Given the description of an element on the screen output the (x, y) to click on. 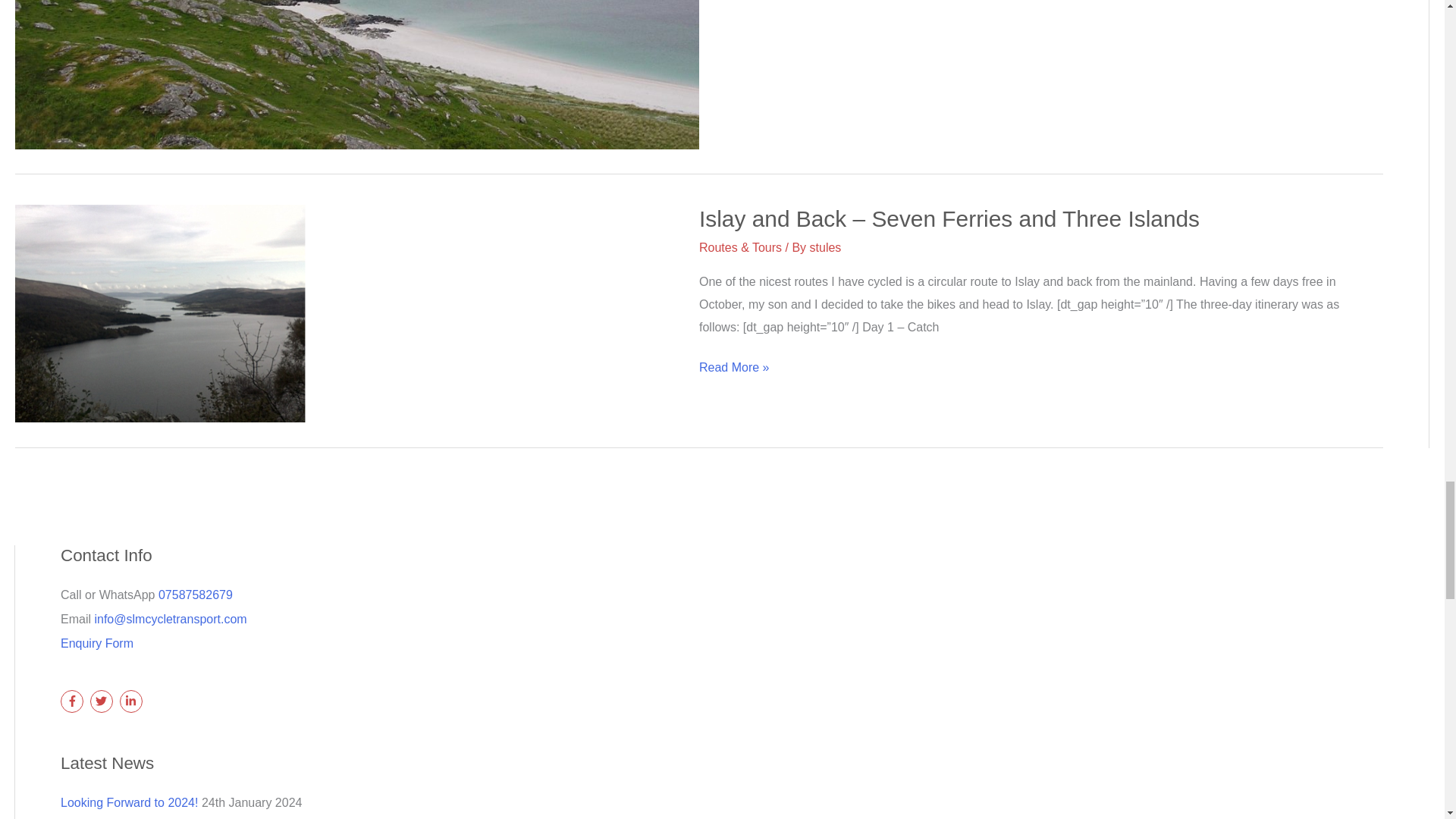
View all posts by stules (825, 246)
